Given the description of an element on the screen output the (x, y) to click on. 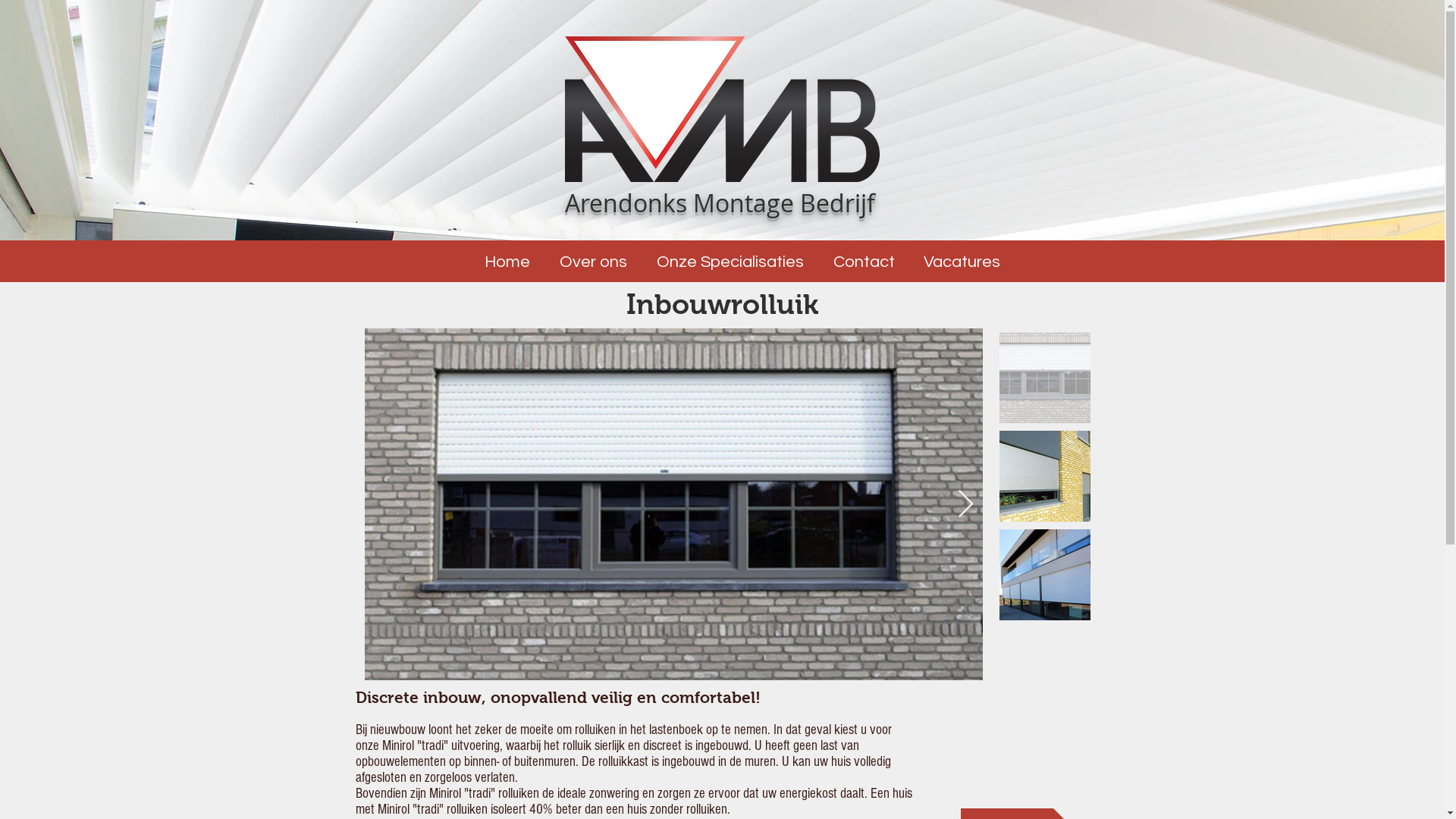
Home Element type: text (507, 262)
Contact Element type: text (864, 262)
Over ons Element type: text (592, 262)
Vacatures Element type: text (960, 262)
